Given the description of an element on the screen output the (x, y) to click on. 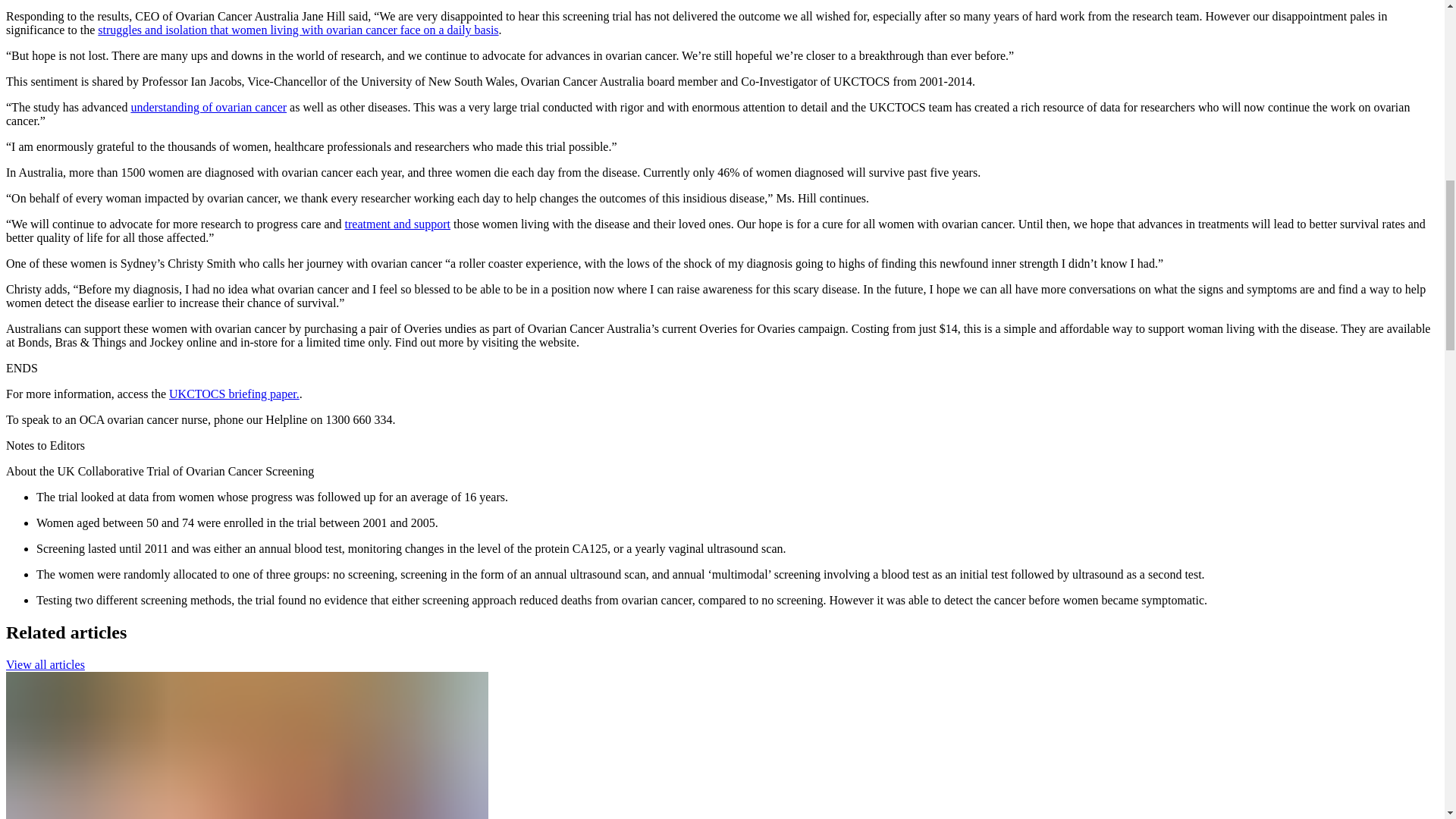
View all articles (44, 664)
UKCTOCS briefing paper. (233, 393)
treatment and support (398, 223)
understanding of ovarian cancer (208, 106)
